Given the description of an element on the screen output the (x, y) to click on. 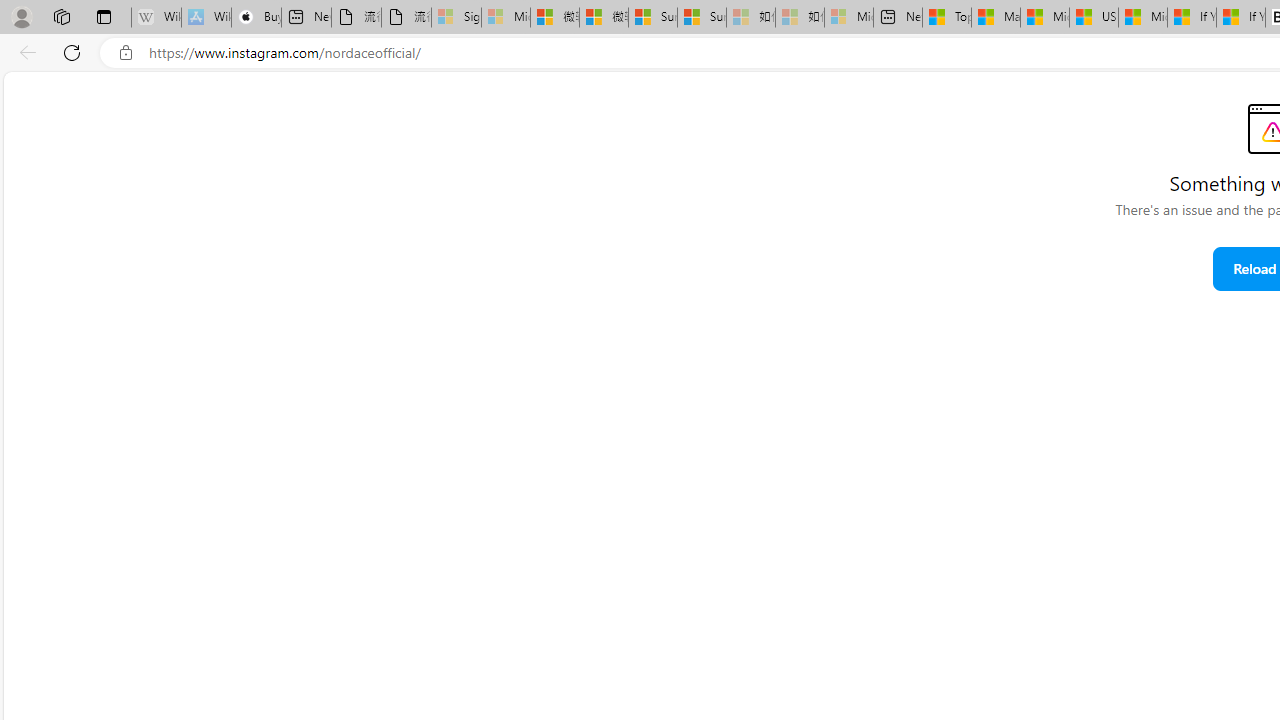
Microsoft account | Account Checkup - Sleeping (848, 17)
Microsoft Services Agreement - Sleeping (505, 17)
